Given the description of an element on the screen output the (x, y) to click on. 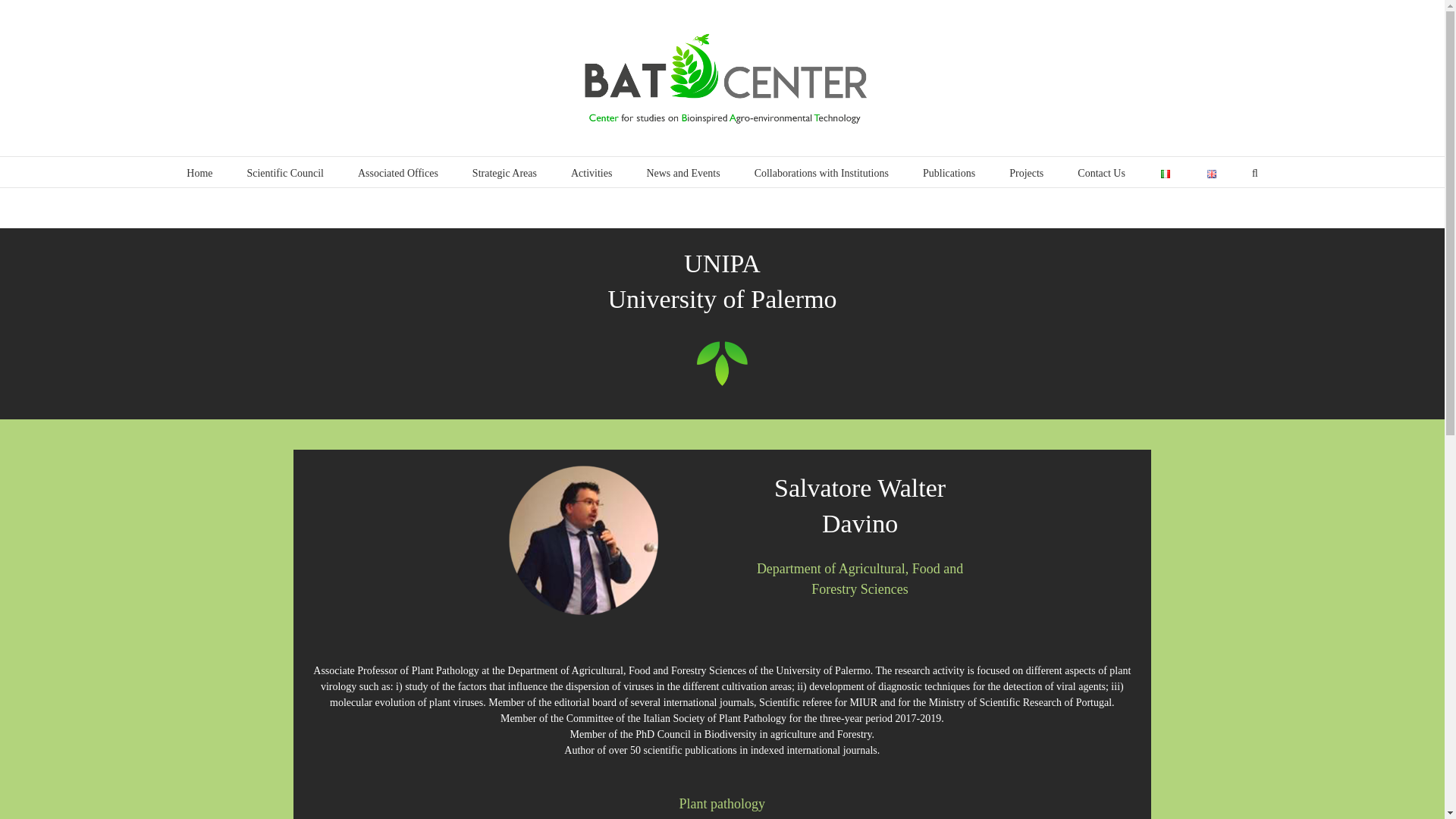
Publications (949, 172)
Associated Offices (398, 172)
Contact Us (1101, 172)
Activities (590, 172)
Collaborations with Institutions (821, 172)
Projects (1026, 172)
Scientific Council (284, 172)
English (1211, 173)
News and Events (682, 172)
Italiano (1165, 173)
Strategic Areas (504, 172)
